Given the description of an element on the screen output the (x, y) to click on. 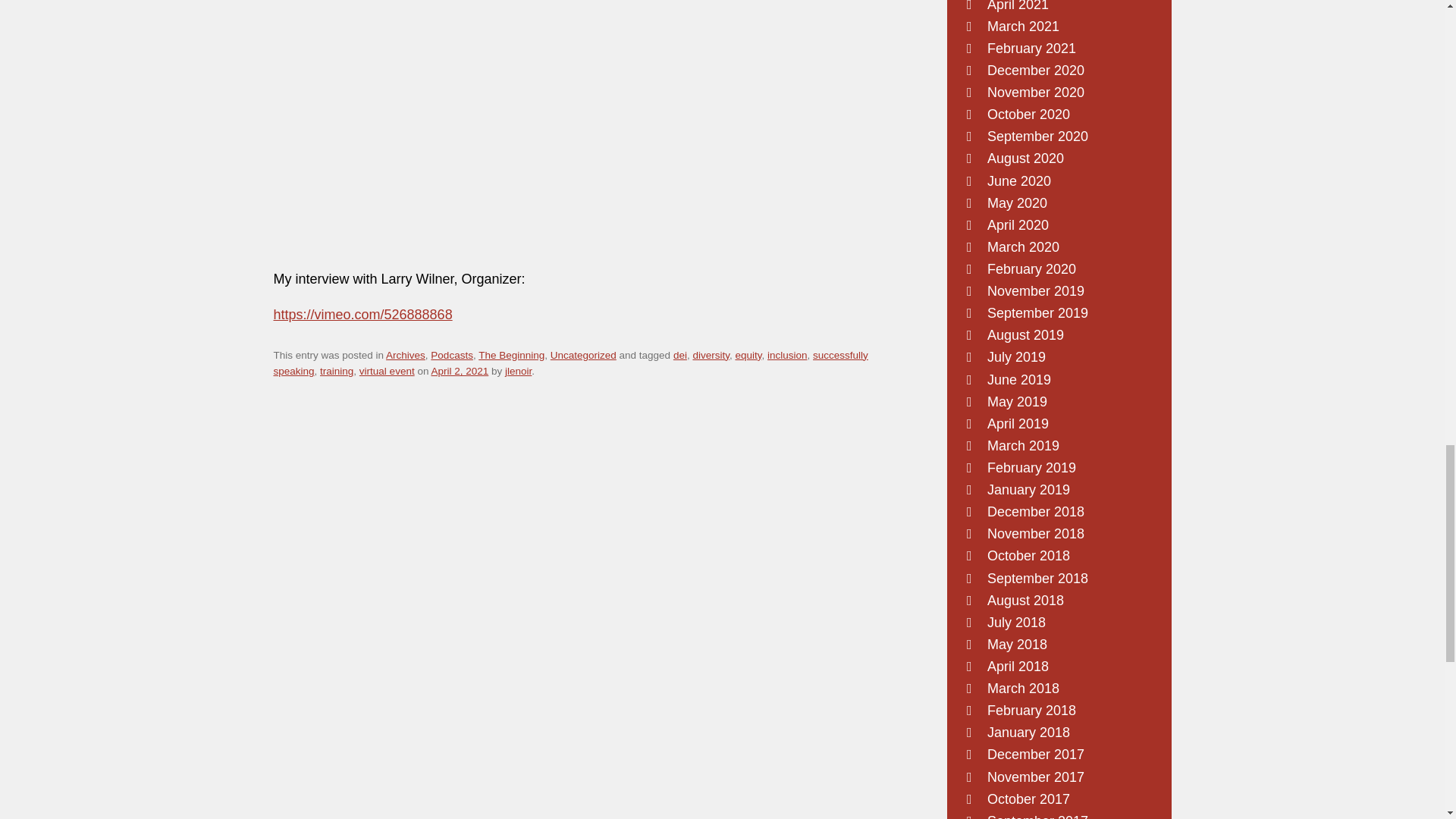
successfully speaking (570, 363)
training (336, 370)
virtual event (386, 370)
diversity (711, 355)
The Beginning (511, 355)
dei (679, 355)
Archives (405, 355)
equity (748, 355)
jlenoir (518, 370)
Podcasts (451, 355)
